Given the description of an element on the screen output the (x, y) to click on. 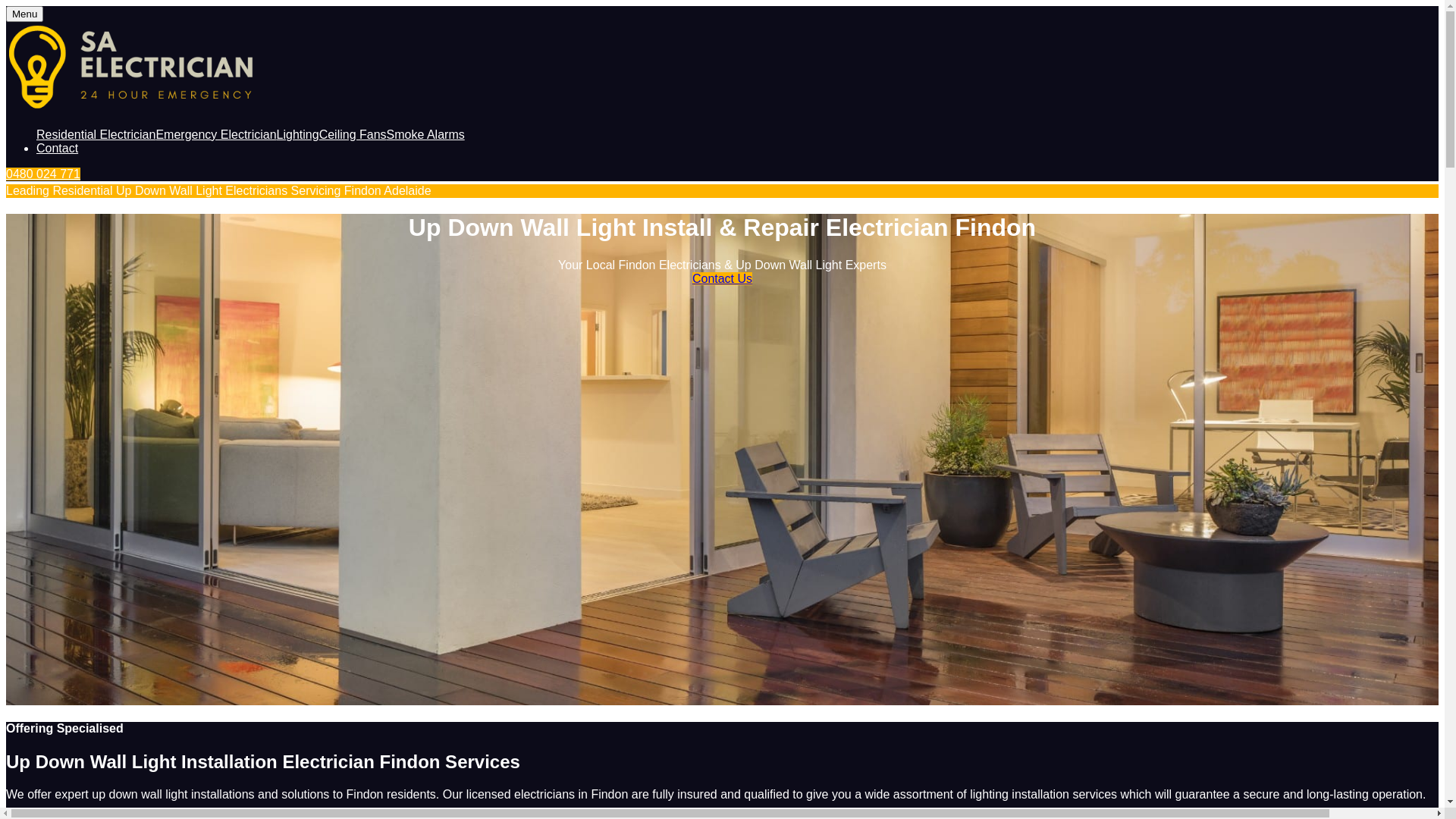
Smoke Alarms Element type: text (425, 134)
Emergency Electrician Element type: text (215, 134)
Residential Electrician Element type: text (95, 134)
Lighting Element type: text (297, 134)
Ceiling Fans Element type: text (352, 134)
Contact Element type: text (57, 147)
Menu Element type: text (24, 13)
0480 024 771 Element type: text (43, 173)
Contact Us Element type: text (722, 278)
